Given the description of an element on the screen output the (x, y) to click on. 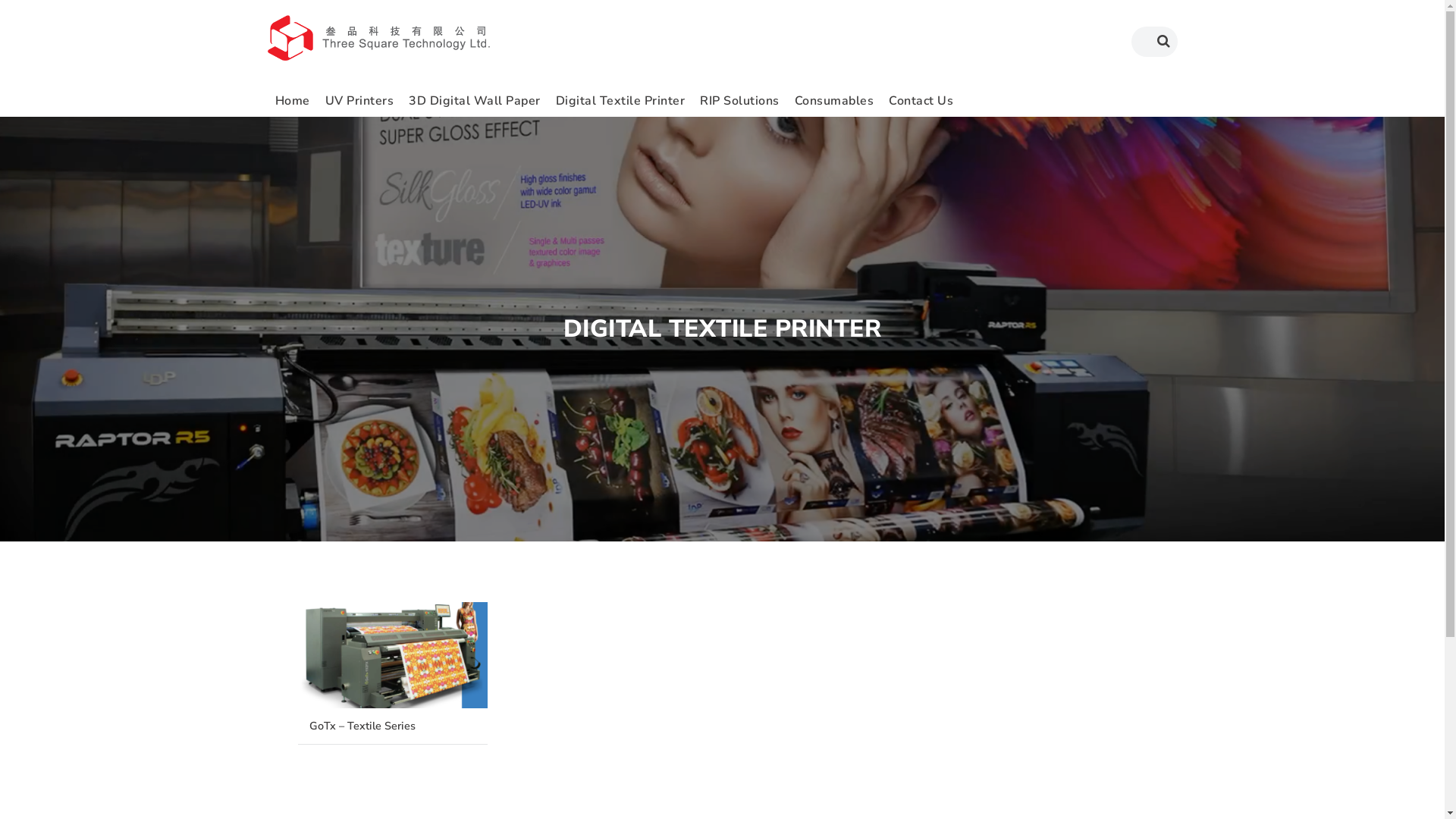
RIP Solutions Element type: text (739, 100)
Digital Textile Printer Element type: text (619, 100)
UV Printers Element type: text (358, 100)
Home Element type: text (291, 100)
Contact Us Element type: text (920, 100)
3D Digital Wall Paper Element type: text (474, 100)
Consumables Element type: text (834, 100)
